Given the description of an element on the screen output the (x, y) to click on. 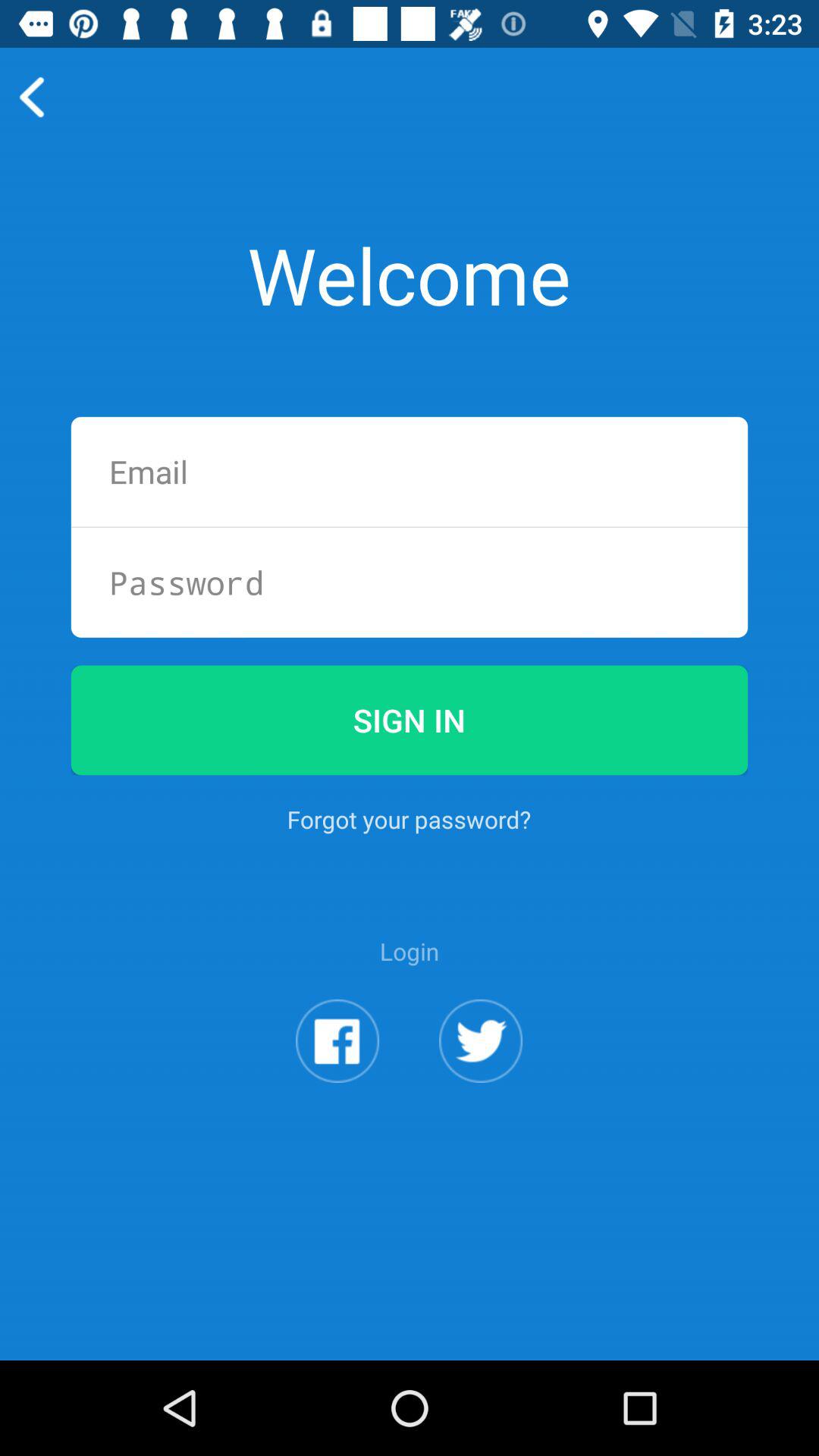
enter the password (409, 582)
